Given the description of an element on the screen output the (x, y) to click on. 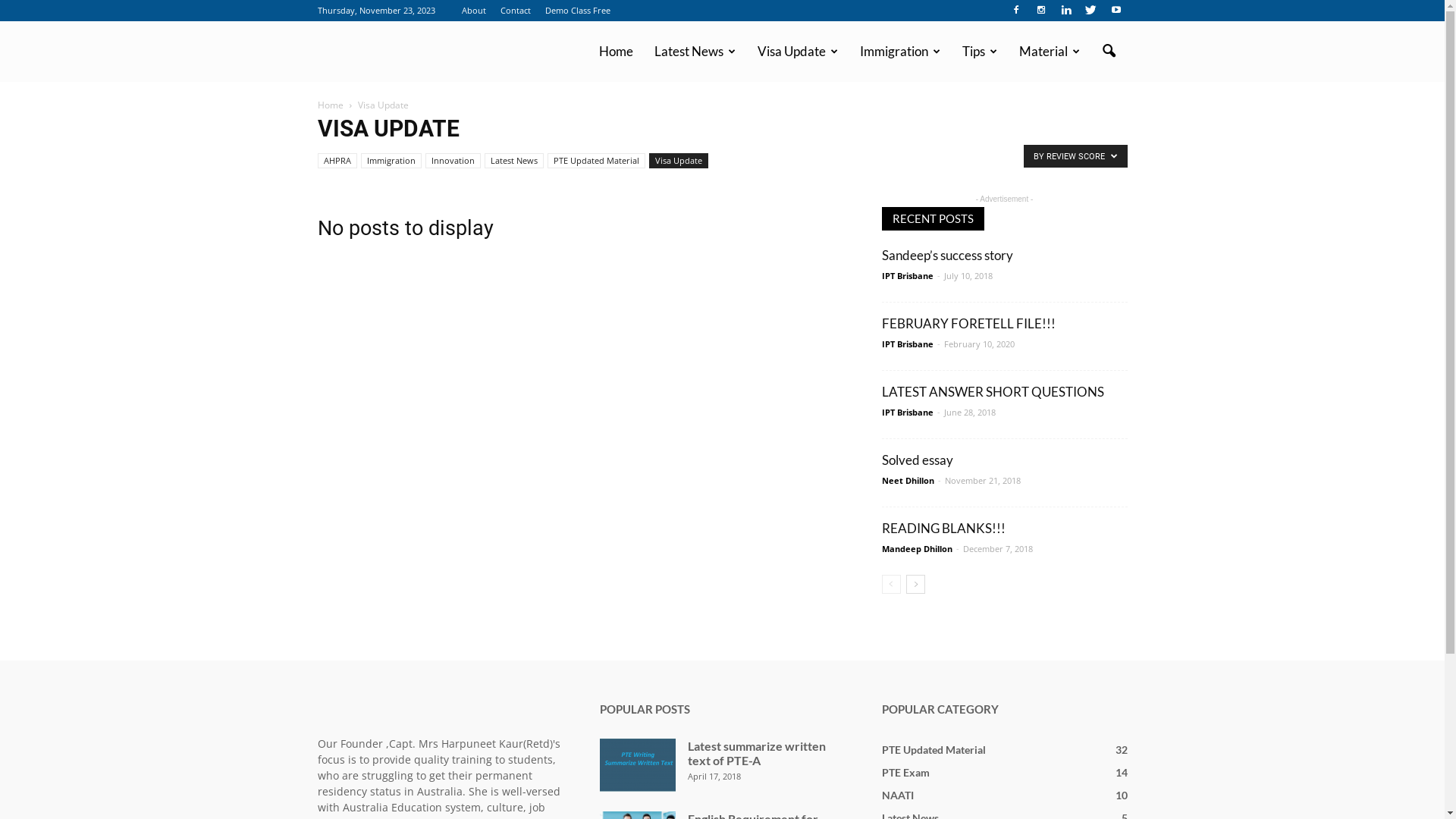
Innovation Element type: text (452, 160)
Facebook Element type: hover (1015, 10)
Youtube Element type: hover (1115, 10)
Twitter Element type: hover (1090, 10)
Home Element type: text (329, 104)
IPT Brisbane Element type: text (906, 275)
Linkedin Element type: hover (1065, 10)
Immigration Element type: text (390, 160)
Immigration Element type: text (900, 51)
IPT Brisbane Element type: text (906, 411)
IPT Brisbane Element type: text (906, 343)
READING BLANKS!!! Element type: text (942, 528)
Material Element type: text (1049, 51)
Visa Update Element type: text (797, 51)
Mandeep Dhillon Element type: text (916, 548)
Demo Class Free Element type: text (576, 9)
Latest summarize written text of PTE-A Element type: hover (636, 764)
Latest News Element type: text (694, 51)
PTE Updated Material
32 Element type: text (933, 749)
Instagram Element type: hover (1040, 10)
Home Element type: text (615, 51)
LATEST ANSWER SHORT QUESTIONS Element type: text (992, 391)
FEBRUARY FORETELL FILE!!! Element type: text (967, 323)
PTE Exam
14 Element type: text (904, 771)
Visa Update Element type: text (678, 160)
Latest News Element type: text (512, 160)
NAATI
10 Element type: text (897, 794)
Solved essay Element type: text (916, 459)
PTE Updated Material Element type: text (596, 160)
AHPRA Element type: text (336, 160)
Neet Dhillon Element type: text (907, 480)
About Element type: text (473, 9)
Tips Element type: text (978, 51)
Contact Element type: text (515, 9)
Latest summarize written text of PTE-A Element type: text (756, 752)
